Given the description of an element on the screen output the (x, y) to click on. 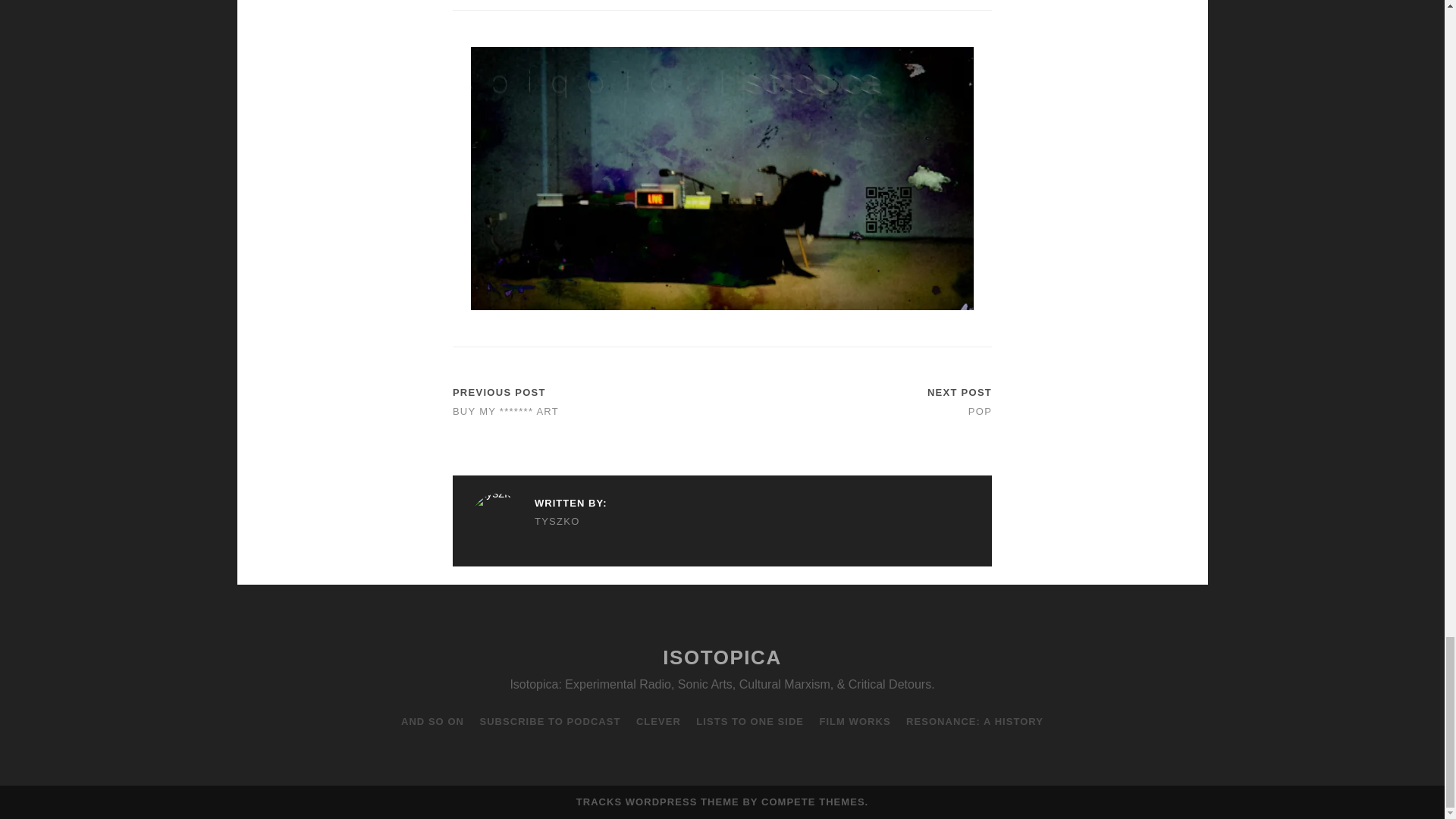
TRACKS WORDPRESS THEME (657, 801)
ISOTOPICA (721, 657)
Posts by tyszko (538, 521)
RESONANCE: A HISTORY (974, 721)
LISTS TO ONE SIDE (749, 721)
FILM WORKS (853, 721)
POP (979, 410)
AND SO ON (432, 721)
TYSZKO (538, 521)
CLEVER (658, 721)
SUBSCRIBE TO PODCAST (549, 721)
